Given the description of an element on the screen output the (x, y) to click on. 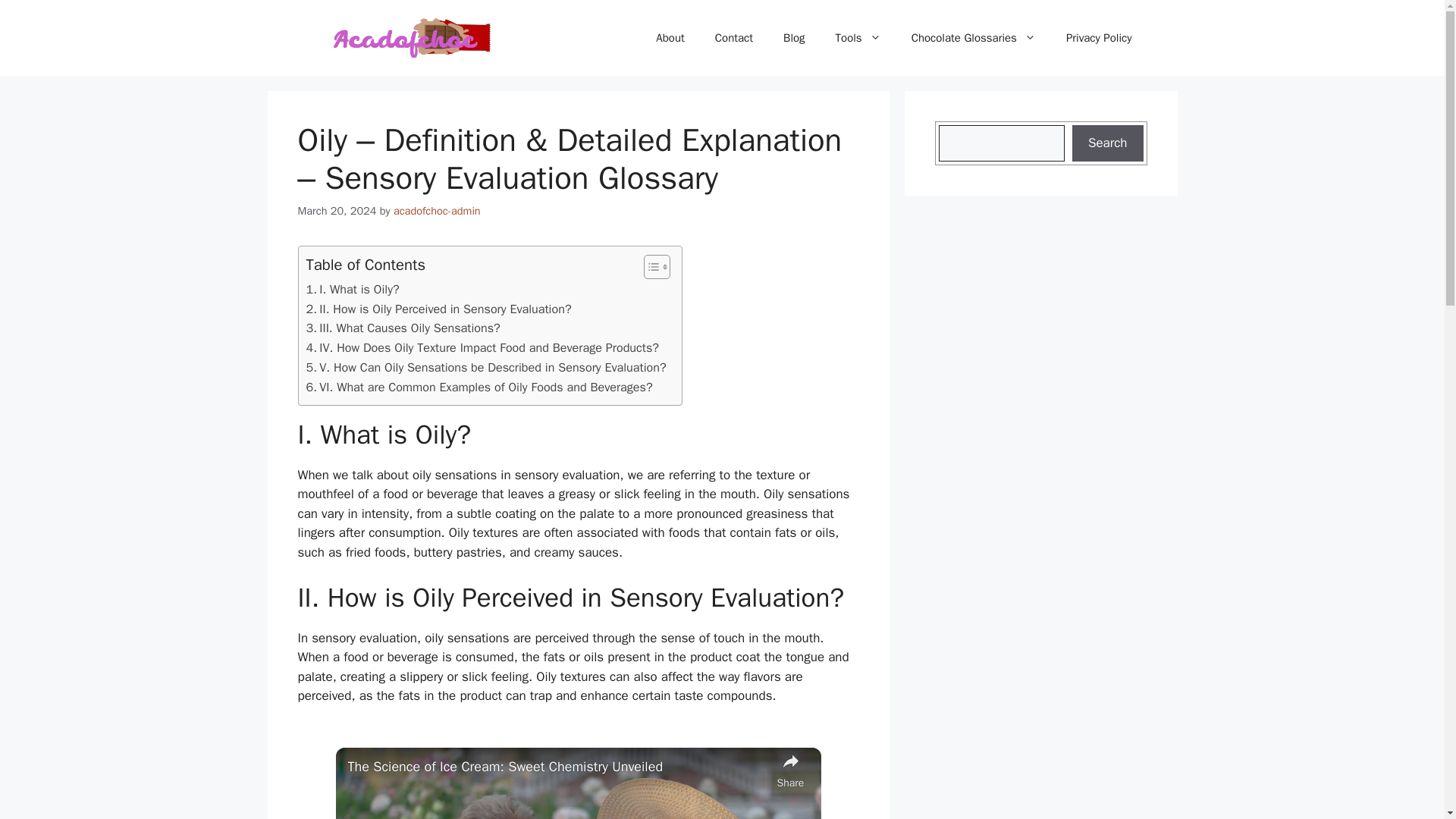
VI. What are Common Examples of Oily Foods and Beverages? (478, 387)
VI. What are Common Examples of Oily Foods and Beverages? (478, 387)
acadofchoc-admin (436, 210)
Blog (793, 37)
About (669, 37)
Contact (734, 37)
Privacy Policy (1099, 37)
IV. How Does Oily Texture Impact Food and Beverage Products? (482, 347)
III. What Causes Oily Sensations? (402, 328)
III. What Causes Oily Sensations? (402, 328)
IV. How Does Oily Texture Impact Food and Beverage Products? (482, 347)
I. What is Oily? (351, 289)
I. What is Oily? (351, 289)
